Given the description of an element on the screen output the (x, y) to click on. 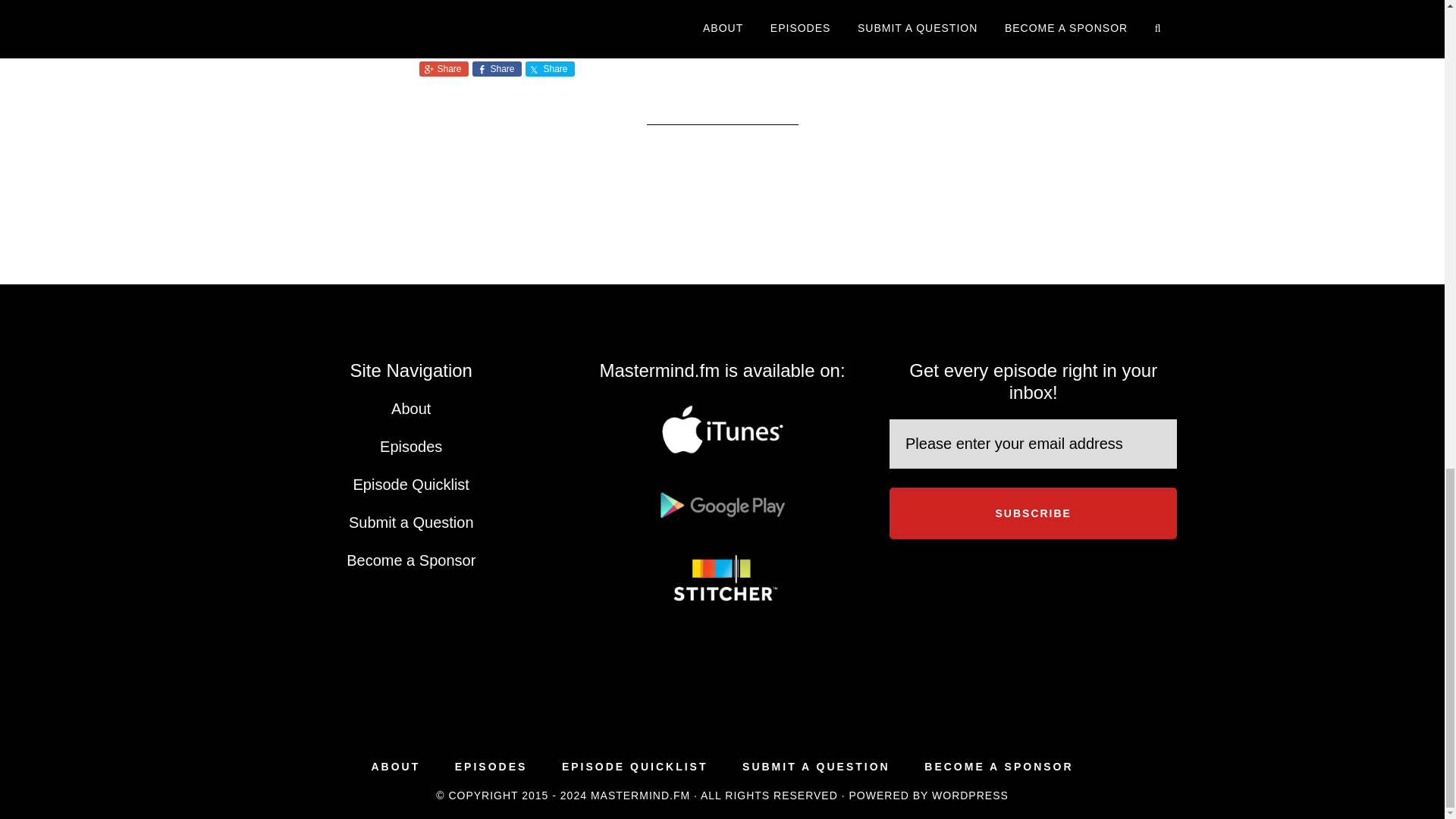
WORDPRESS (970, 795)
About (410, 408)
MASTERMIND.FM (640, 795)
Share (443, 68)
EPISODES (490, 766)
Submit a Question (411, 522)
Become a Sponsor (411, 560)
Subscribe (1032, 512)
Episode Quicklist (410, 484)
EPISODE QUICKLIST (634, 766)
Share (496, 68)
Episodes (411, 446)
Subscribe (1032, 512)
ABOUT (395, 766)
Share (548, 68)
